Given the description of an element on the screen output the (x, y) to click on. 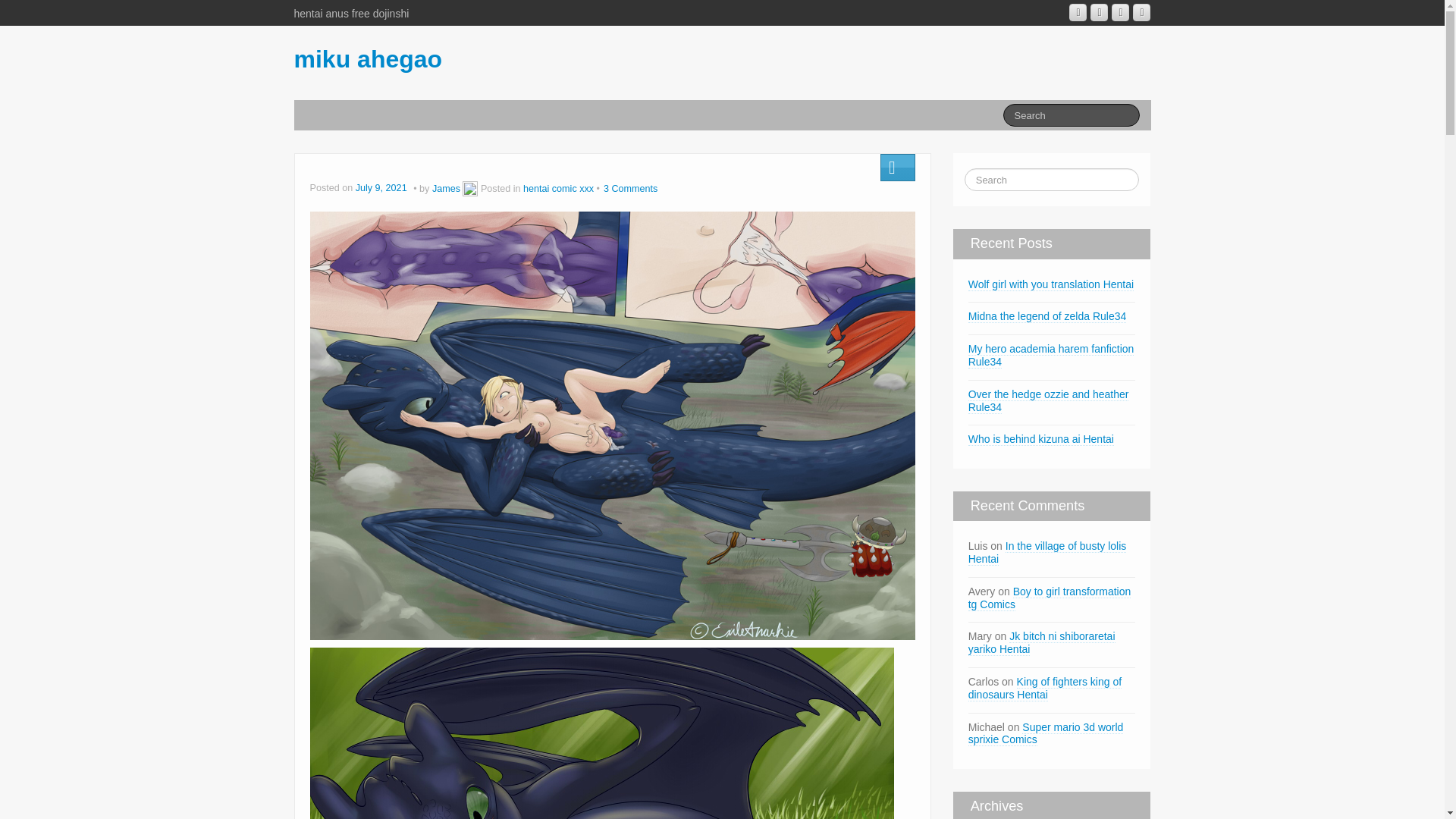
King of fighters king of dinosaurs Hentai (1044, 688)
View all posts by James (470, 188)
Boy to girl transformation tg Comics (1049, 597)
View all posts by James (446, 188)
Super mario 3d world sprixie Comics (1046, 733)
My hero academia harem fanfiction Rule34 (1051, 355)
miku ahegao Facebook (1099, 12)
3 Comments (631, 188)
miku ahegao (368, 58)
James (446, 188)
In the village of busty lolis Hentai (1047, 552)
Midna the legend of zelda Rule34 (1047, 316)
hentai comic xxx (558, 188)
July 9, 2021 (382, 188)
miku ahegao Googleplus (1077, 12)
